Given the description of an element on the screen output the (x, y) to click on. 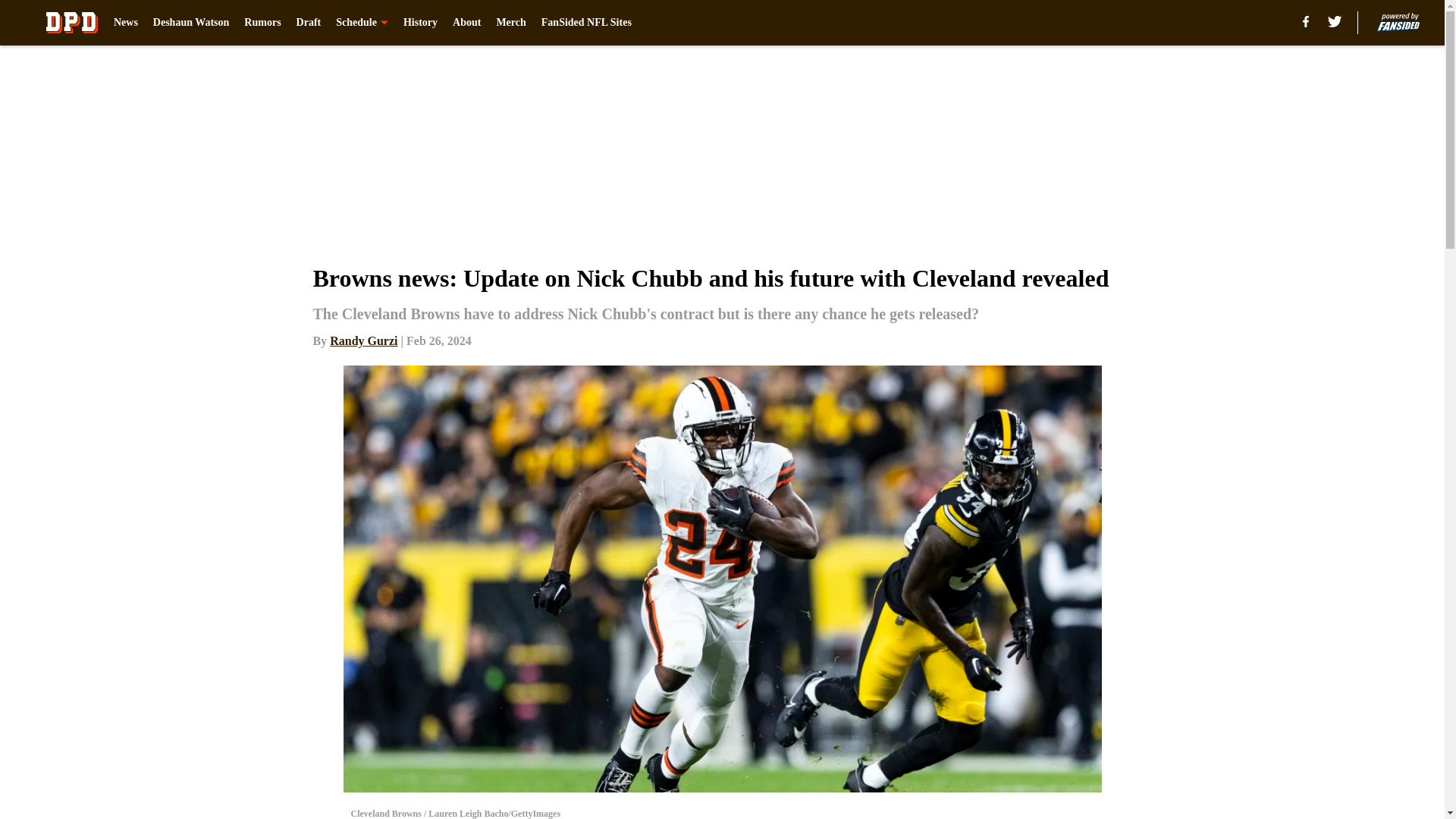
Draft (309, 22)
About (466, 22)
FanSided NFL Sites (586, 22)
History (420, 22)
News (125, 22)
Merch (510, 22)
Randy Gurzi (363, 340)
Deshaun Watson (191, 22)
Rumors (262, 22)
